Given the description of an element on the screen output the (x, y) to click on. 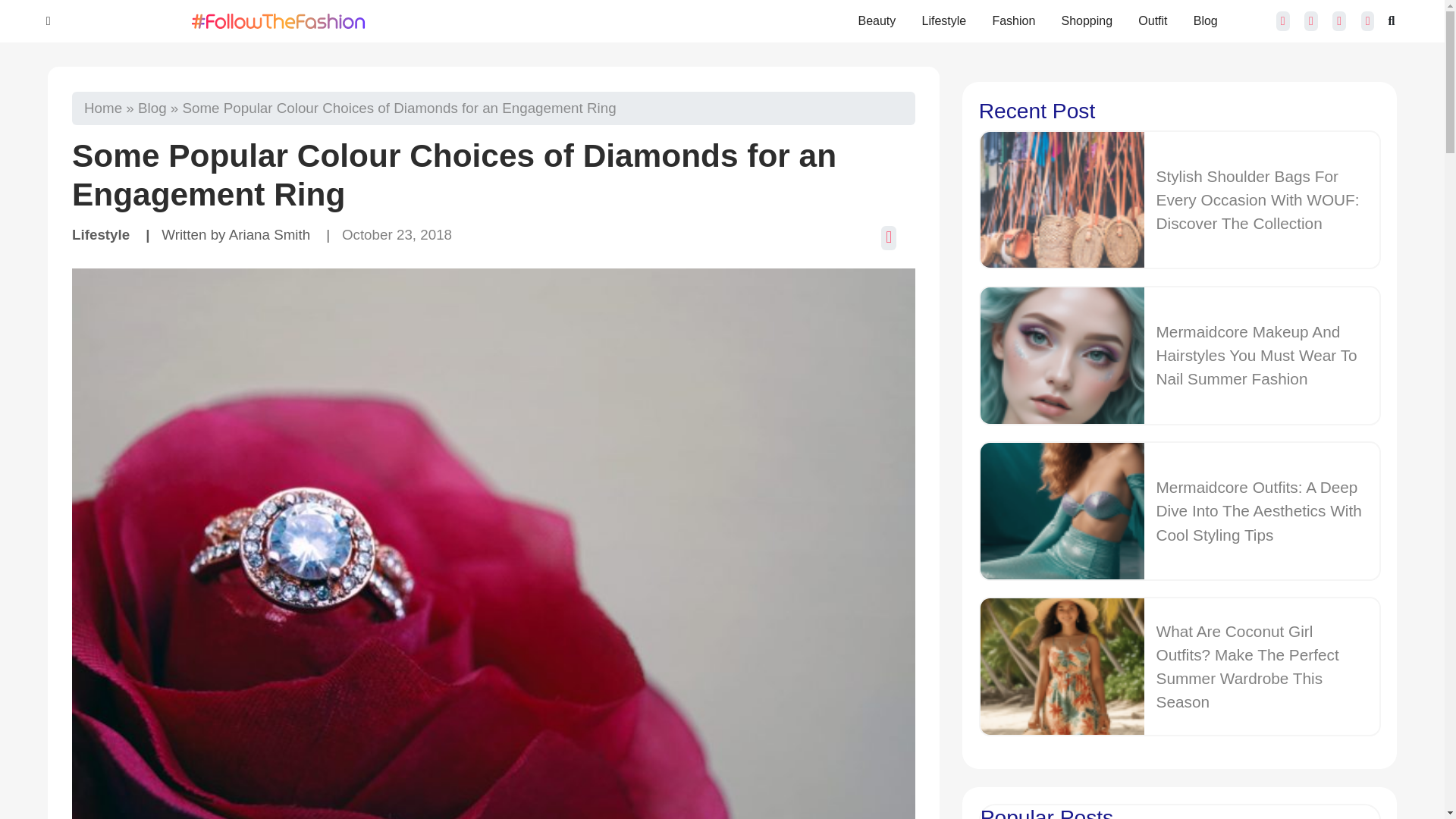
Blog (152, 107)
Lifestyle (100, 234)
Open Search Panel (1391, 20)
Lifestyle (938, 21)
Home (103, 107)
Shopping (1080, 21)
Outfit (1146, 21)
Blog (1199, 21)
Beauty (871, 21)
Fashion (1008, 21)
Ariana Smith (269, 234)
Posts by arianasmith (269, 234)
